Given the description of an element on the screen output the (x, y) to click on. 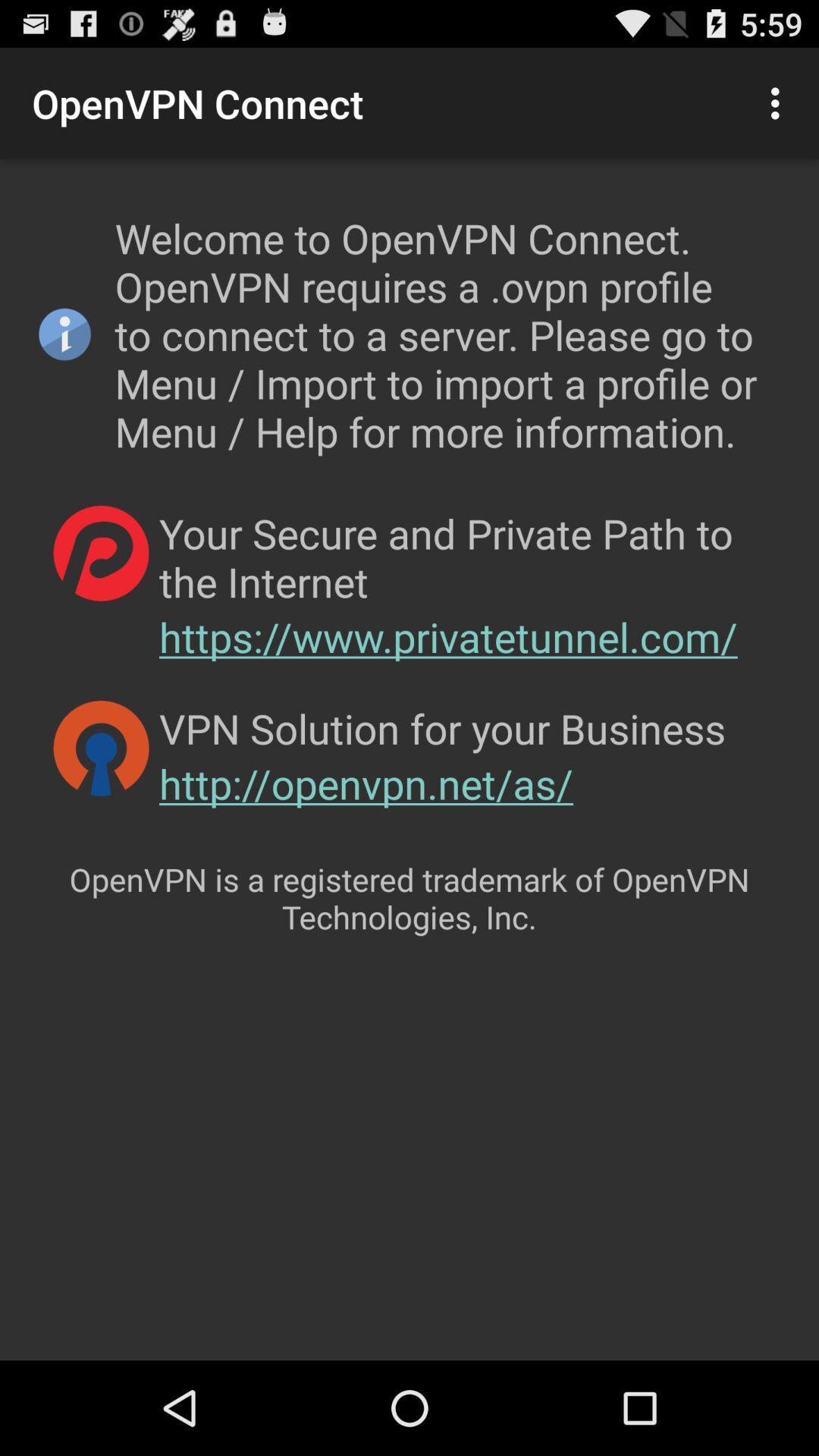
turn on item to the right of the openvpn connect (779, 103)
